Given the description of an element on the screen output the (x, y) to click on. 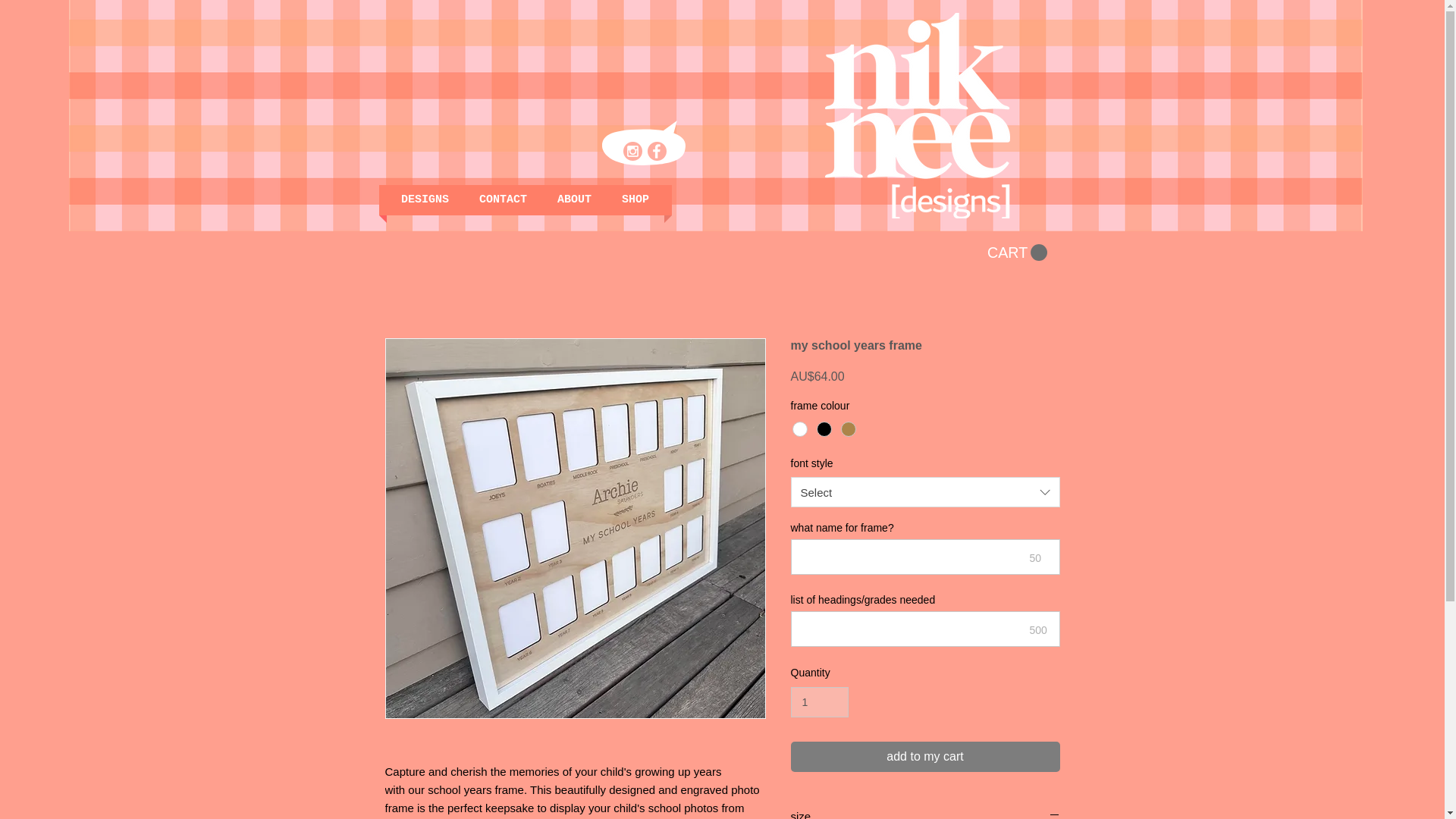
CART (1016, 252)
CONTACT (502, 200)
Select (924, 491)
ABOUT (574, 200)
DESIGNS (425, 200)
add to my cart (924, 757)
CART (1016, 252)
size... (924, 813)
1 (818, 702)
